Given the description of an element on the screen output the (x, y) to click on. 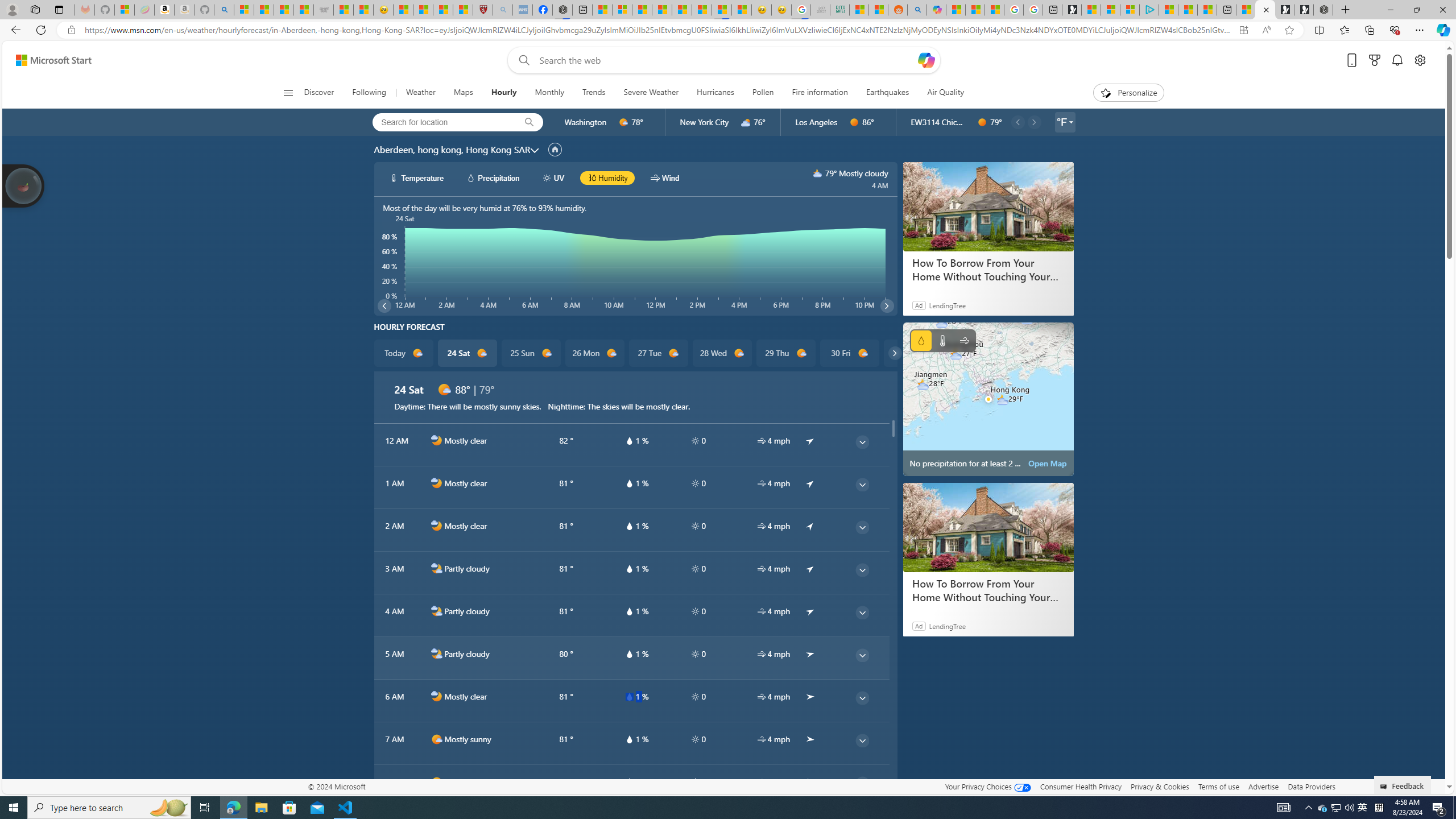
Hurricanes (715, 92)
hourlyTable/uv (694, 782)
Fire information (820, 92)
Pollen (762, 92)
Join us in planting real trees to help our planet! (23, 185)
Wind (964, 340)
Aberdeen, hong kong, Hong Kong SAR (451, 149)
